Given the description of an element on the screen output the (x, y) to click on. 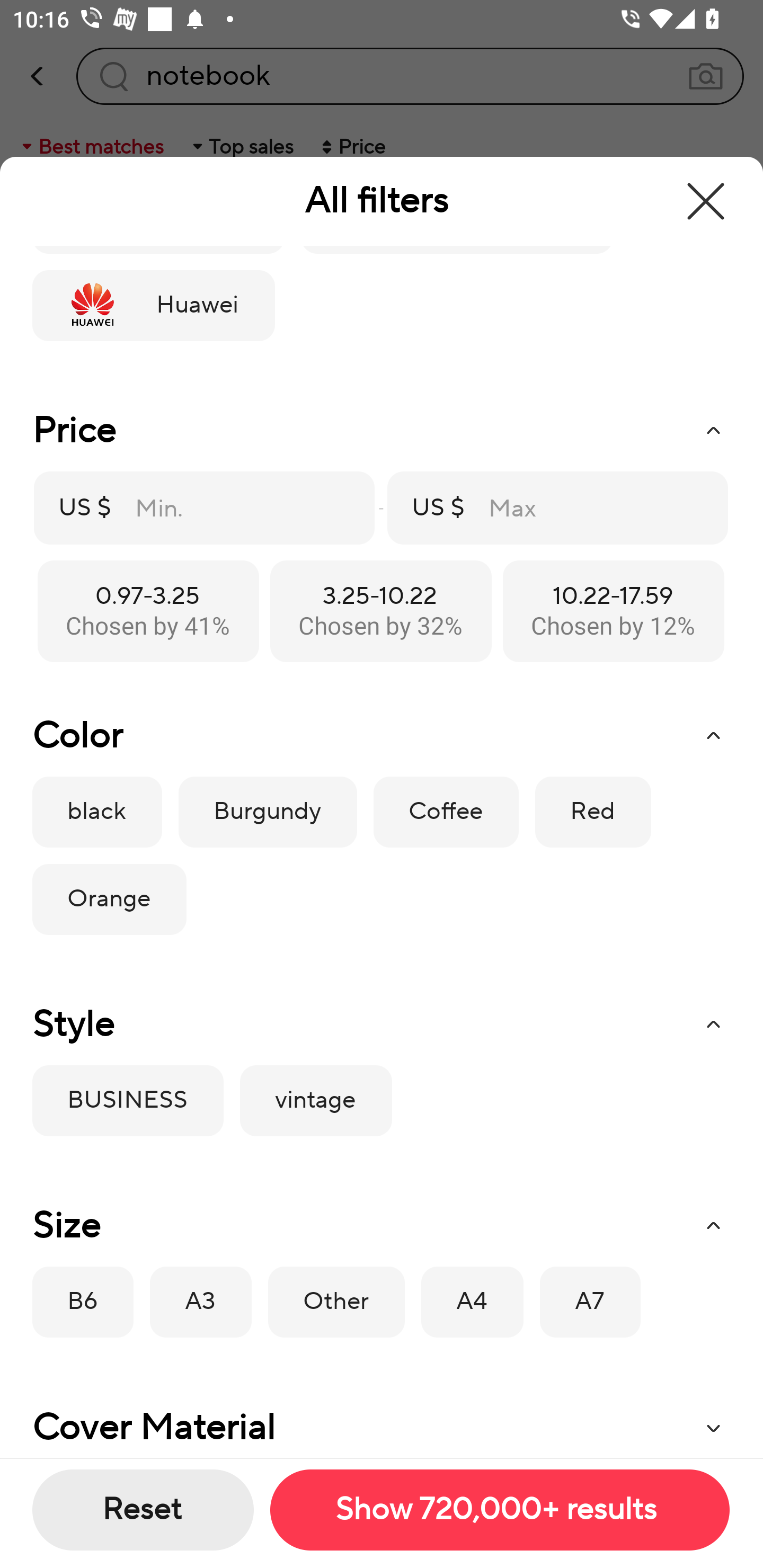
Huawei (153, 305)
Price (381, 430)
0.97-3.25 Chosen by 41% (148, 610)
3.25-10.22 Chosen by 32% (380, 610)
10.22-17.59 Chosen by 12% (613, 610)
Color (381, 736)
black (96, 812)
Burgundy (267, 812)
Coffee (445, 812)
Red (592, 812)
Orange (109, 898)
Style (381, 1024)
BUSINESS (127, 1100)
vintage (316, 1100)
Size (381, 1225)
B6 (82, 1301)
A3 (200, 1301)
Other (336, 1301)
A4 (472, 1301)
A7 (590, 1301)
Cover Material (381, 1421)
Reset (143, 1509)
Show 720,000+ results  (499, 1509)
